Given the description of an element on the screen output the (x, y) to click on. 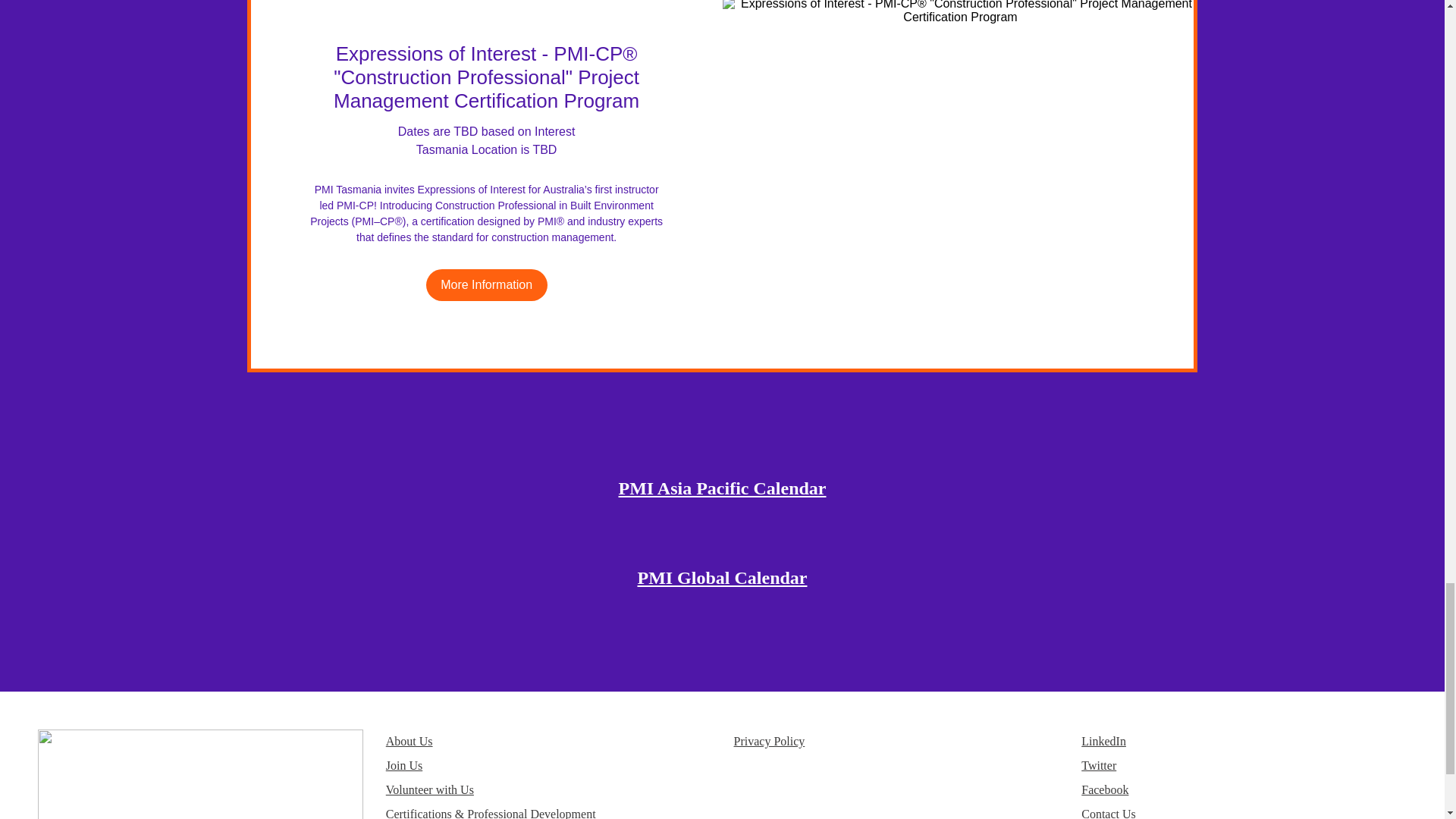
More Information (486, 285)
PMI Asia Pacific Calendar (722, 487)
PMI Global Calendar (721, 578)
